Given the description of an element on the screen output the (x, y) to click on. 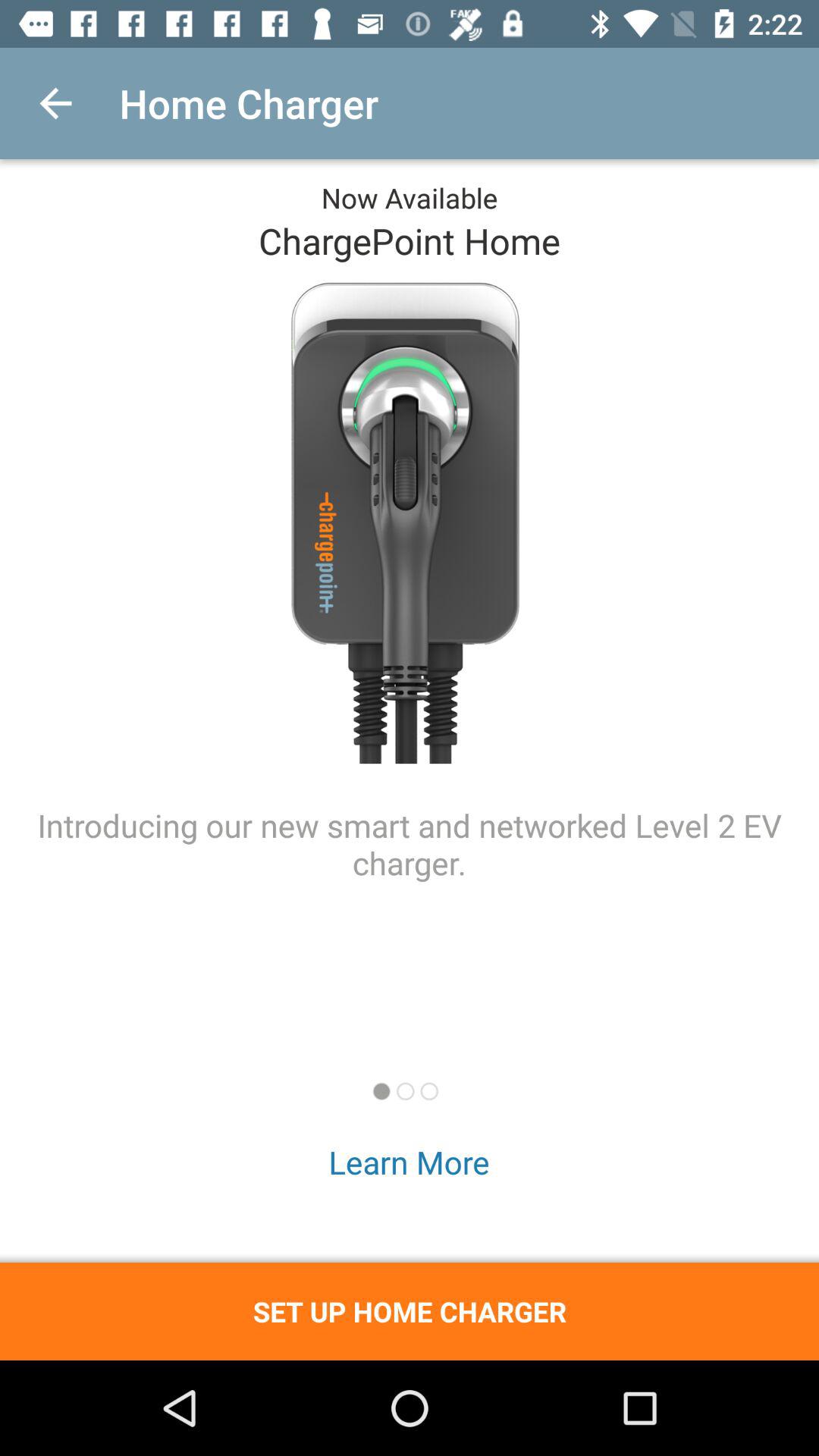
turn on learn more (408, 1161)
